Given the description of an element on the screen output the (x, y) to click on. 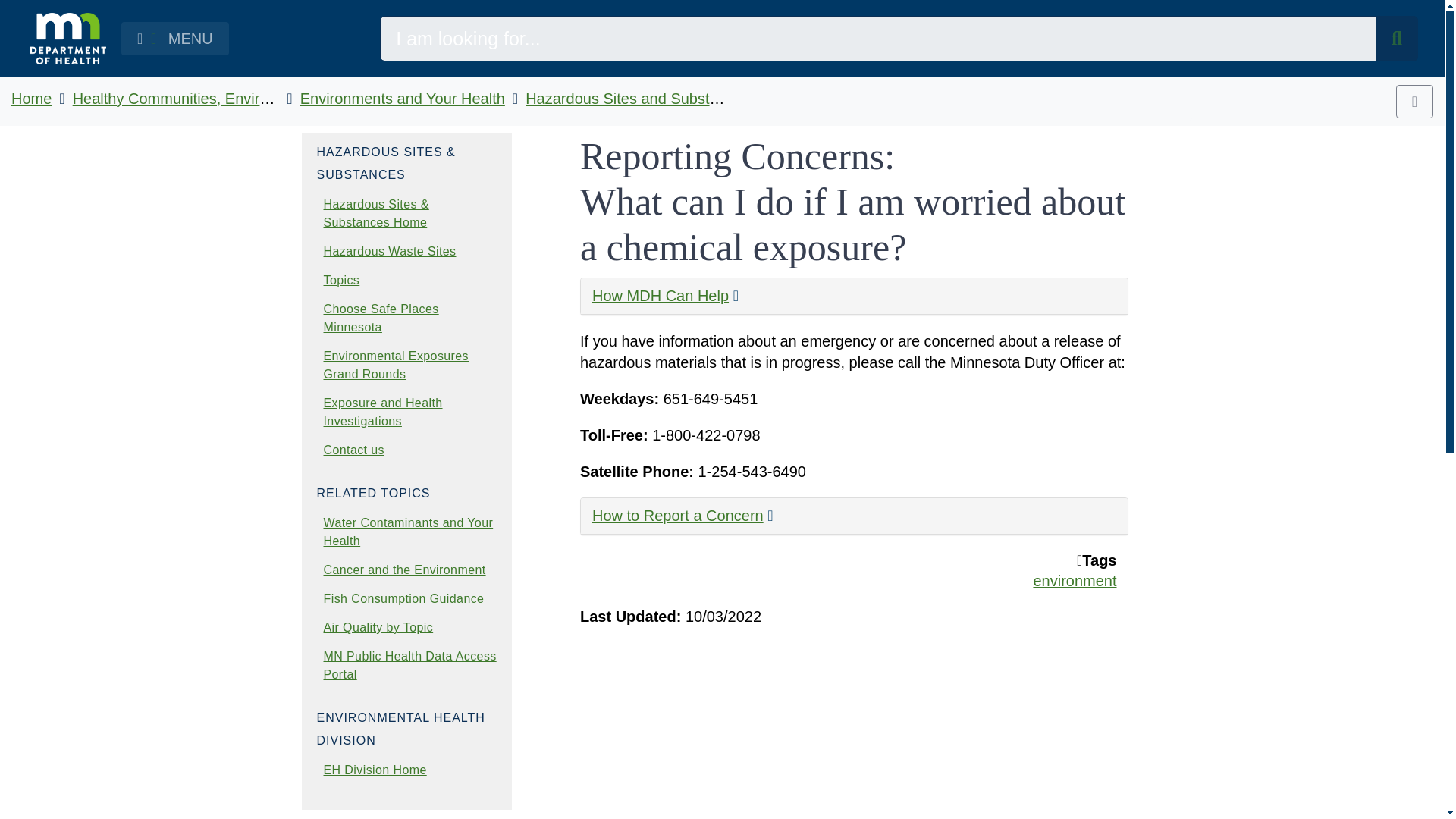
Environments and Your Health (402, 98)
Home (30, 98)
print (1414, 101)
Healthy Communities, Environment and Workplaces (247, 98)
Search MDH site (1396, 38)
Print (1414, 101)
Hazardous Sites and Substances (637, 98)
Exposure and Health Investigations (382, 411)
Choose Safe Places Minnesota (380, 317)
Hazardous Waste Sites (389, 250)
Environmental Exposures Grand Rounds (395, 364)
MENU (174, 38)
Topics (341, 279)
Home (30, 98)
Hazardous Sites and Substances (637, 98)
